Given the description of an element on the screen output the (x, y) to click on. 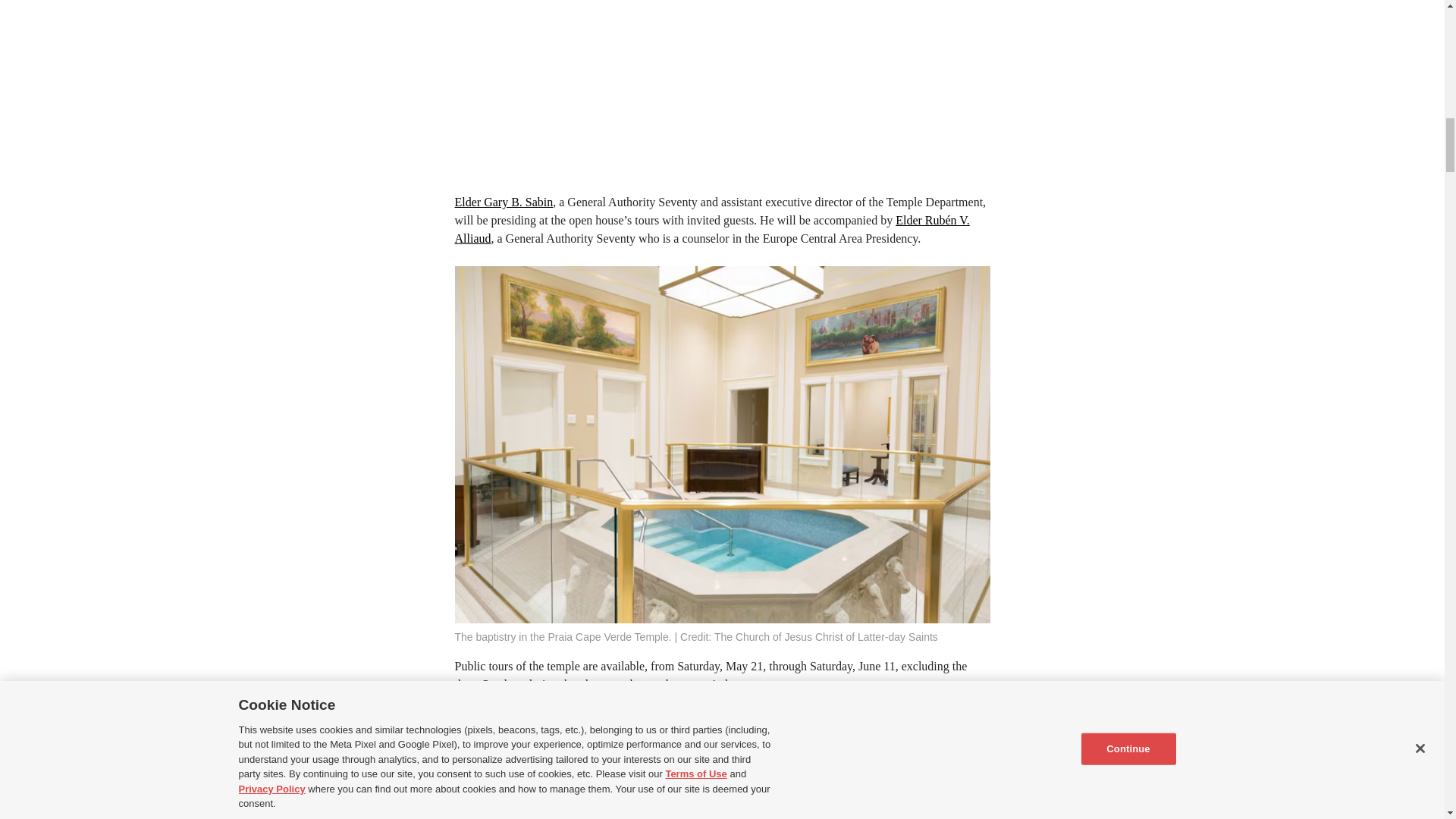
Elder Neil L. Andersen (620, 738)
3rd party ad content (722, 90)
Elder Gary B. Sabin (503, 201)
